Given the description of an element on the screen output the (x, y) to click on. 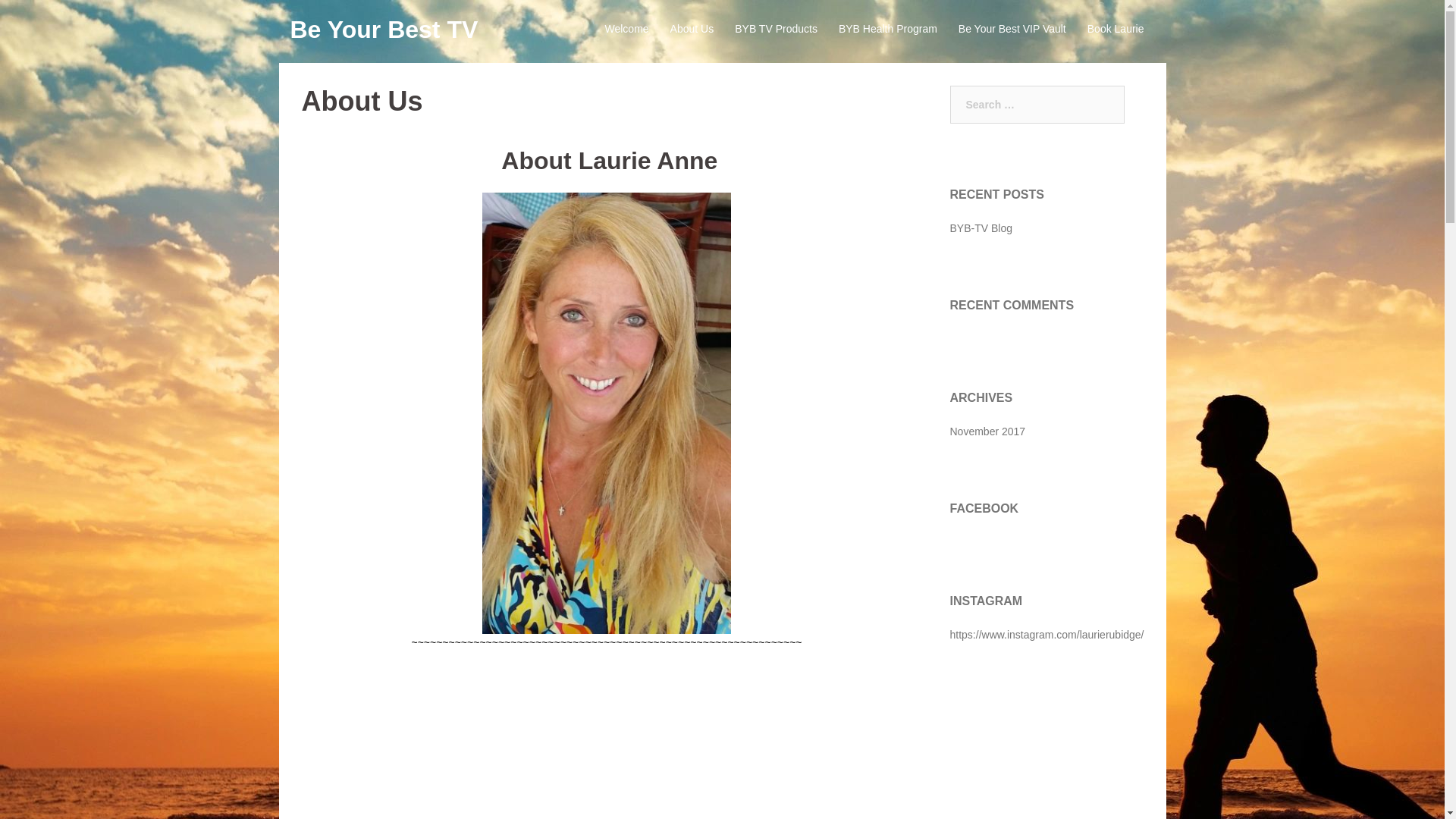
November 2017 (987, 431)
Be Your Best VIP Vault (1011, 29)
BYB Health Program (887, 29)
BYB TV Products (775, 29)
BYB-TV Blog (980, 227)
Book Laurie (1115, 29)
Be Your Best TV (383, 29)
Welcome (627, 29)
About Us (691, 29)
Search (47, 18)
